Given the description of an element on the screen output the (x, y) to click on. 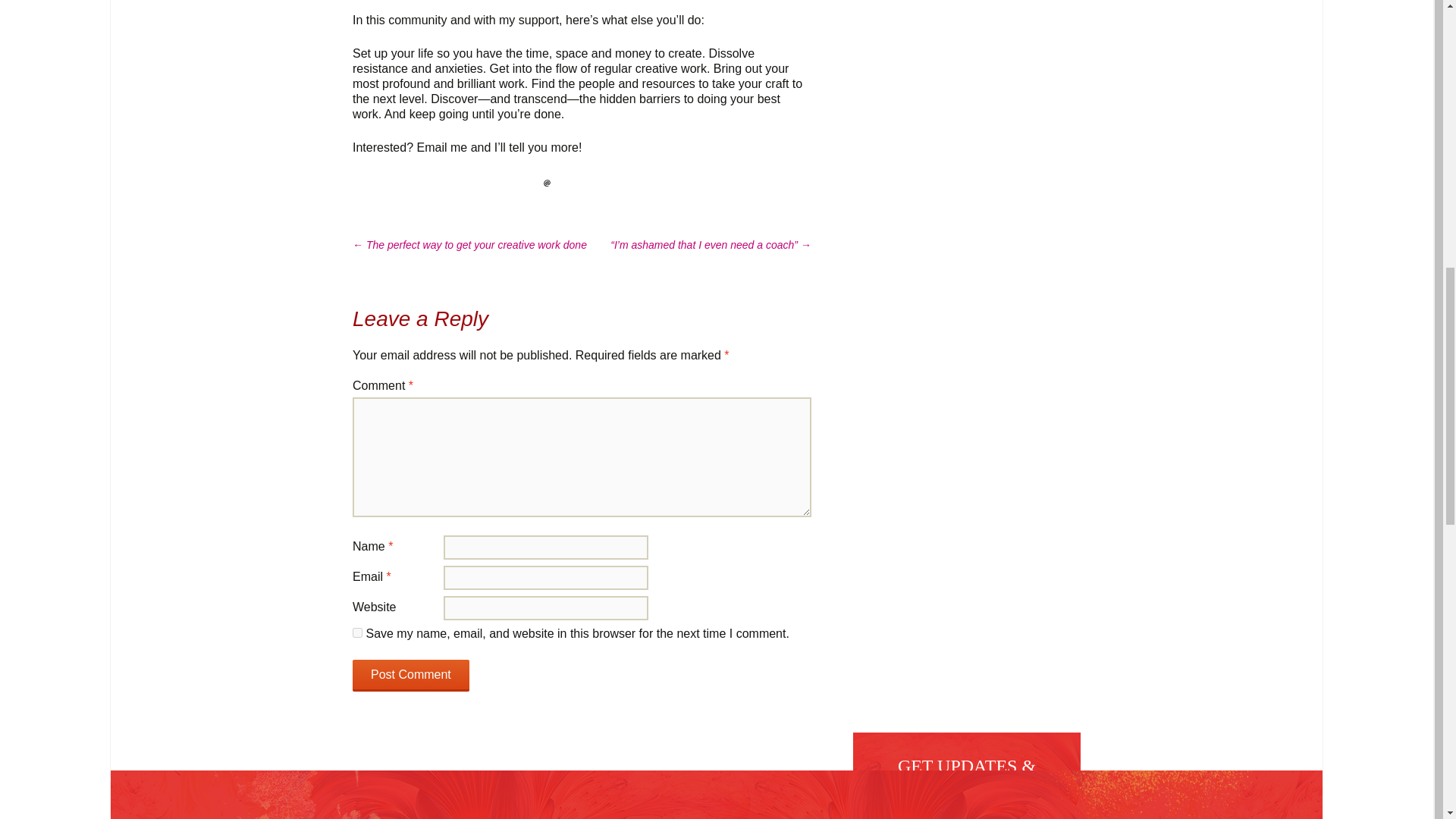
Post Comment (410, 675)
Post Comment (410, 675)
yes (357, 633)
